Given the description of an element on the screen output the (x, y) to click on. 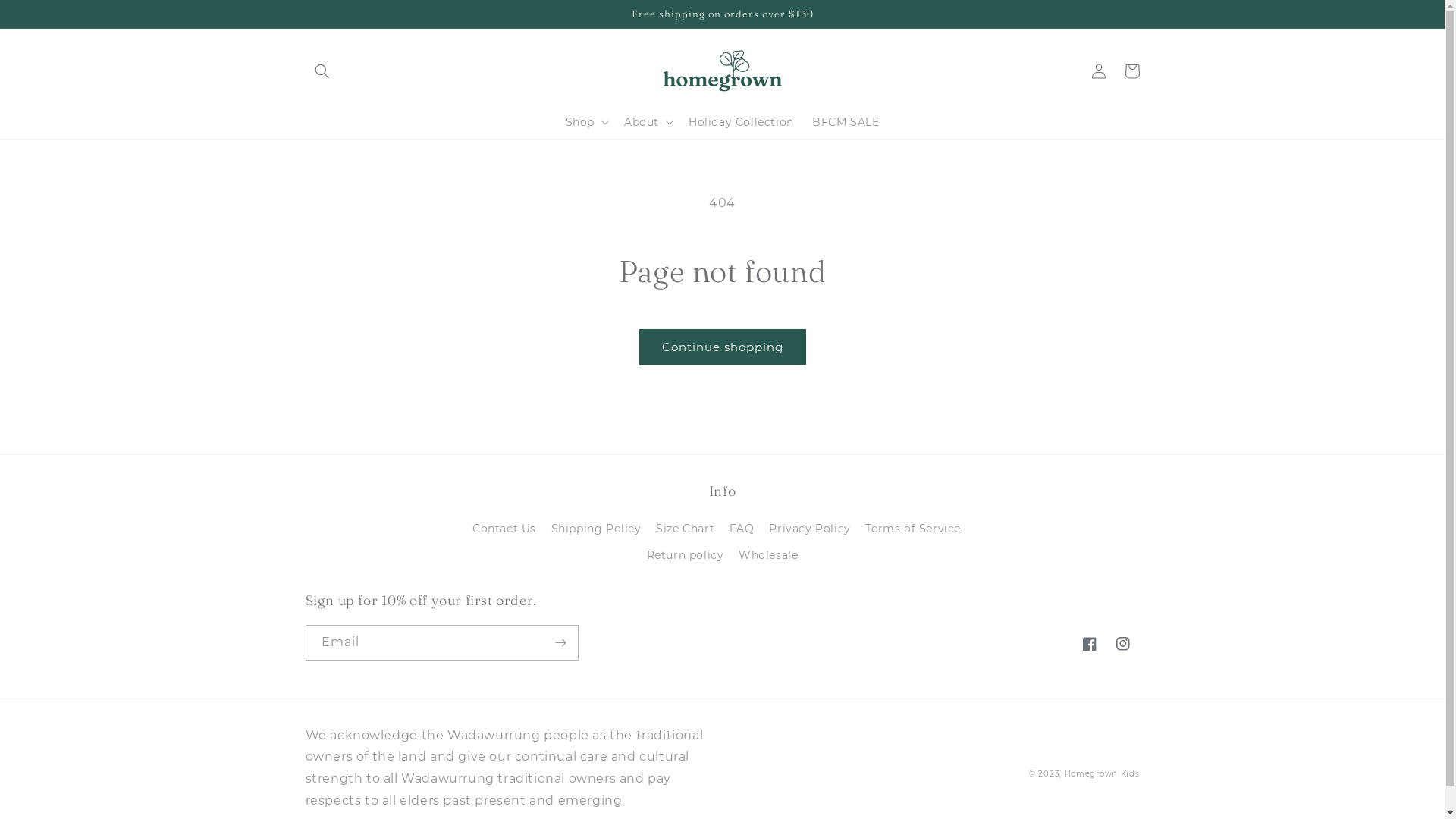
BFCM SALE Element type: text (845, 122)
Facebook Element type: text (1088, 643)
Cart Element type: text (1131, 70)
FAQ Element type: text (741, 528)
Shipping Policy Element type: text (596, 528)
Privacy Policy Element type: text (809, 528)
Size Chart Element type: text (684, 528)
Holiday Collection Element type: text (741, 122)
Return policy Element type: text (685, 555)
Instagram Element type: text (1122, 643)
Wholesale Element type: text (767, 555)
Terms of Service Element type: text (912, 528)
Homegrown Kids Element type: text (1101, 773)
Contact Us Element type: text (504, 530)
Continue shopping Element type: text (721, 346)
Log in Element type: text (1097, 70)
